Given the description of an element on the screen output the (x, y) to click on. 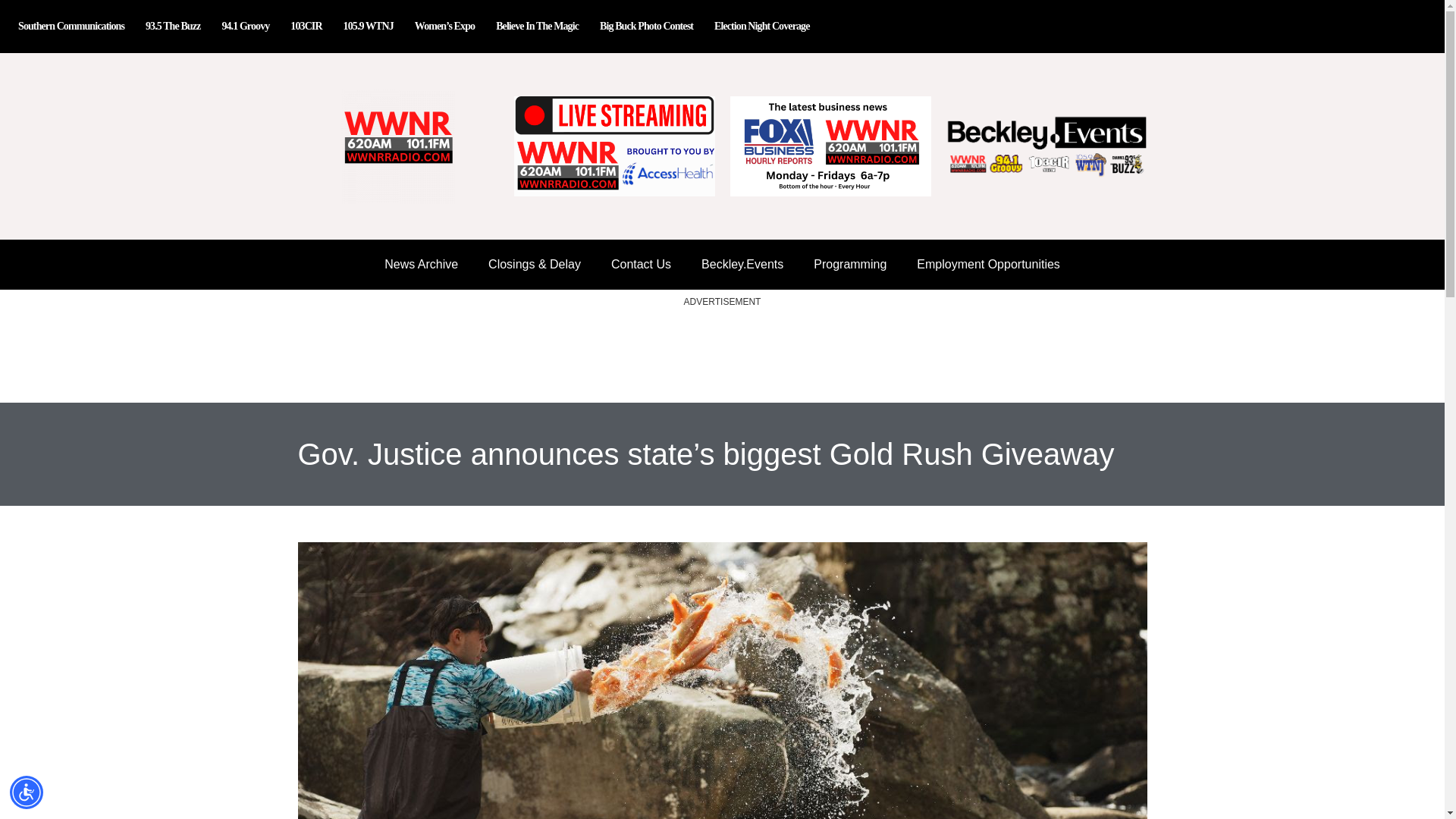
94.1 Groovy (245, 26)
103CIR (305, 26)
Accessibility Menu (26, 792)
Election Night Coverage (762, 26)
Believe In The Magic (536, 26)
Employment Opportunities (988, 264)
Contact Us (640, 264)
105.9 WTNJ (368, 26)
Advertisement (721, 355)
Big Buck Photo Contest (646, 26)
Southern Communications (71, 26)
Beckley.Events (741, 264)
93.5 The Buzz (173, 26)
News Archive (421, 264)
Programming (849, 264)
